Given the description of an element on the screen output the (x, y) to click on. 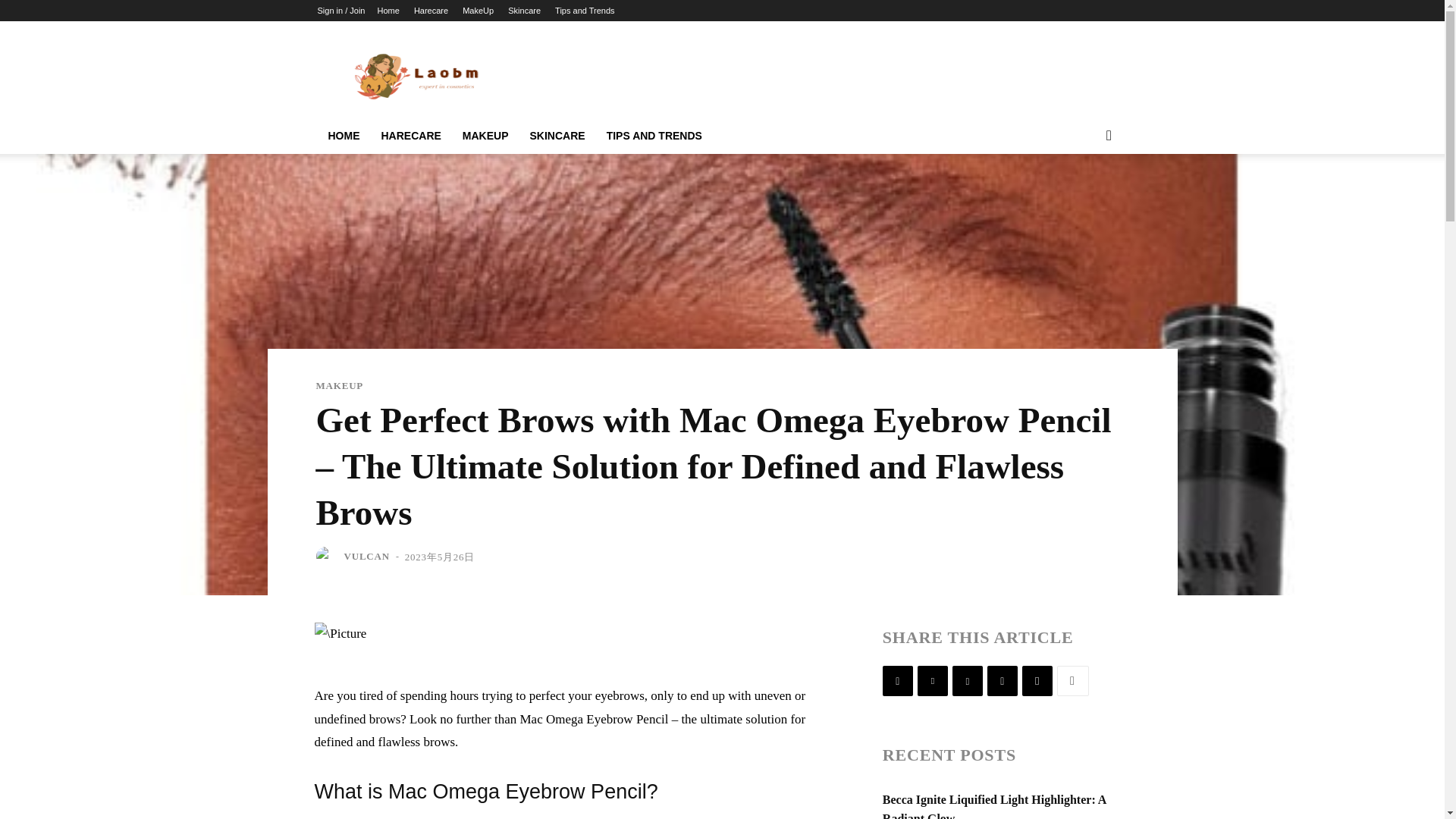
Twitter (932, 680)
vulcan (327, 556)
MAKEUP (338, 385)
Linkedin (1002, 680)
Facebook (897, 680)
MakeUp (478, 10)
TIPS AND TRENDS (654, 135)
HOME (343, 135)
Home (387, 10)
Tips and Trends (584, 10)
Advertisement (850, 76)
SKINCARE (557, 135)
Email (1037, 680)
VULCAN (366, 556)
Search (1085, 196)
